Given the description of an element on the screen output the (x, y) to click on. 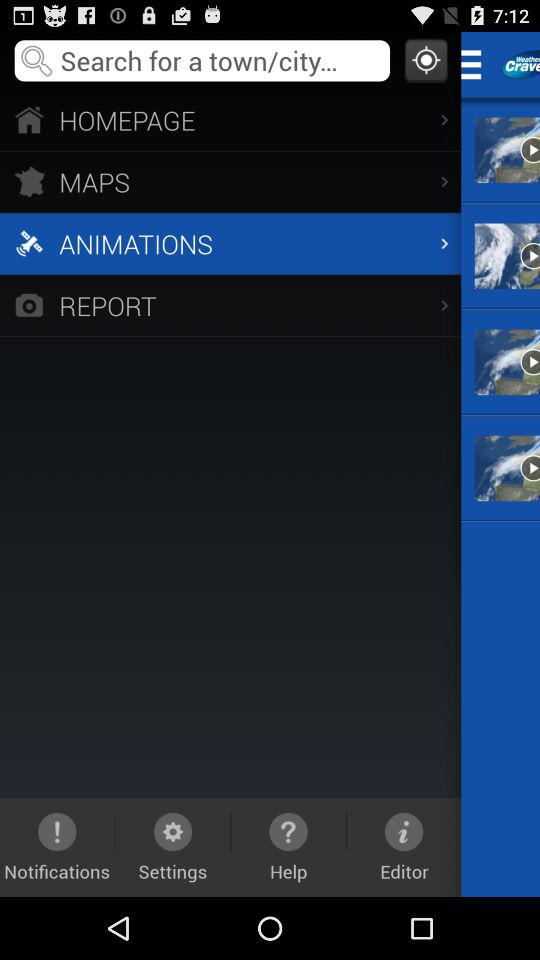
click to location button (426, 60)
